Given the description of an element on the screen output the (x, y) to click on. 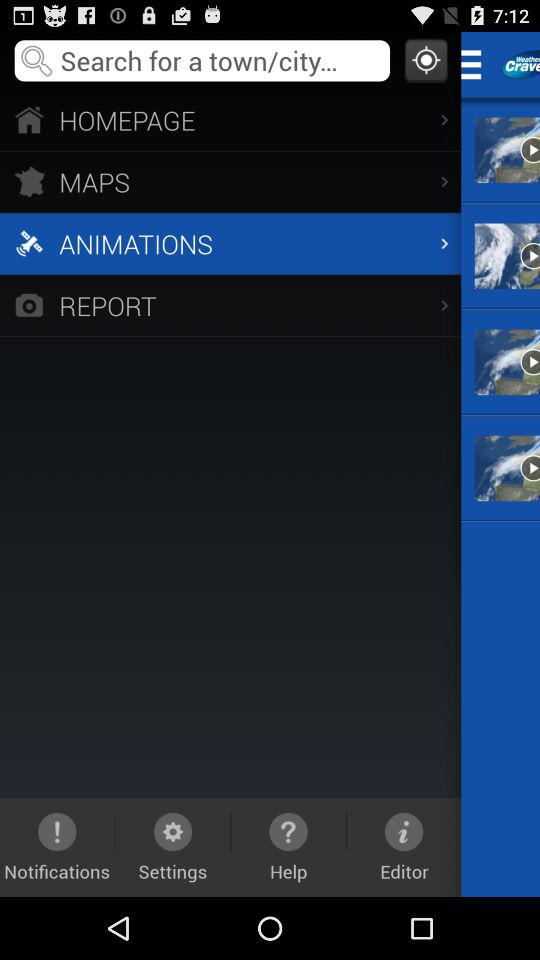
click to location button (426, 60)
